Given the description of an element on the screen output the (x, y) to click on. 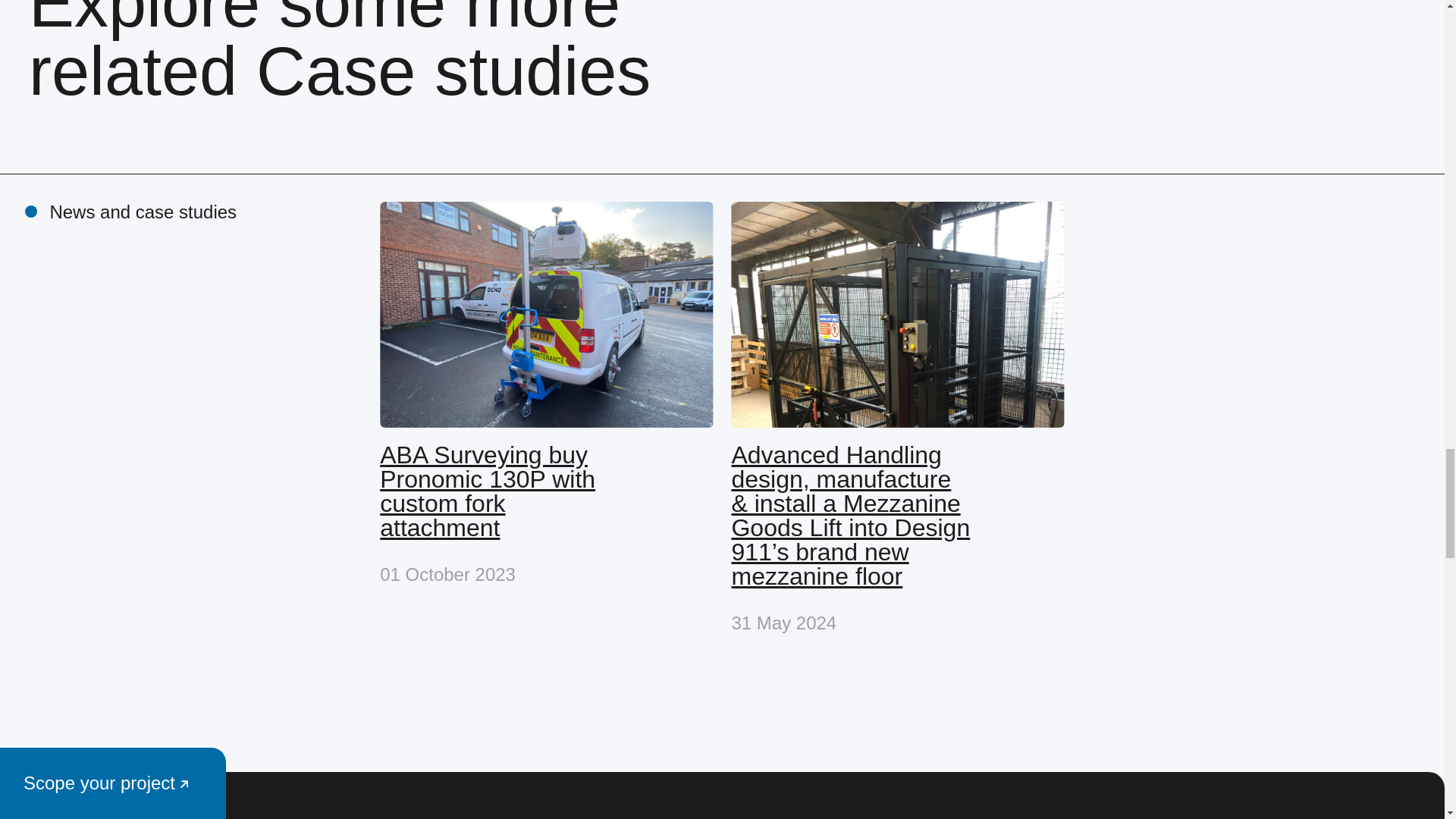
ABA Surveying buy Pronomic 130P with custom fork attachment (546, 513)
